Given the description of an element on the screen output the (x, y) to click on. 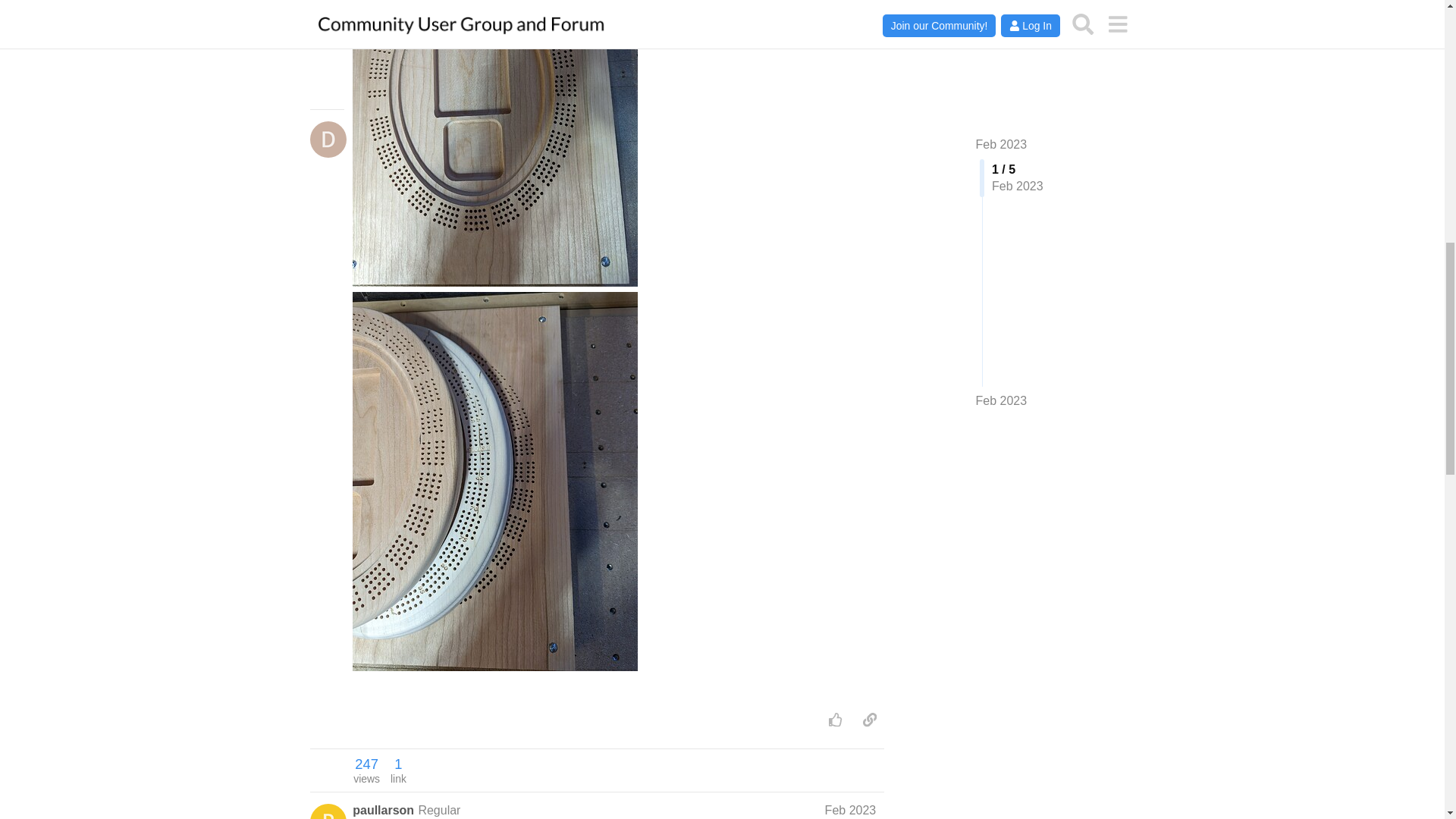
Please sign up or log in to like this post (366, 770)
paullarson (835, 719)
Feb 2023 (382, 810)
